Given the description of an element on the screen output the (x, y) to click on. 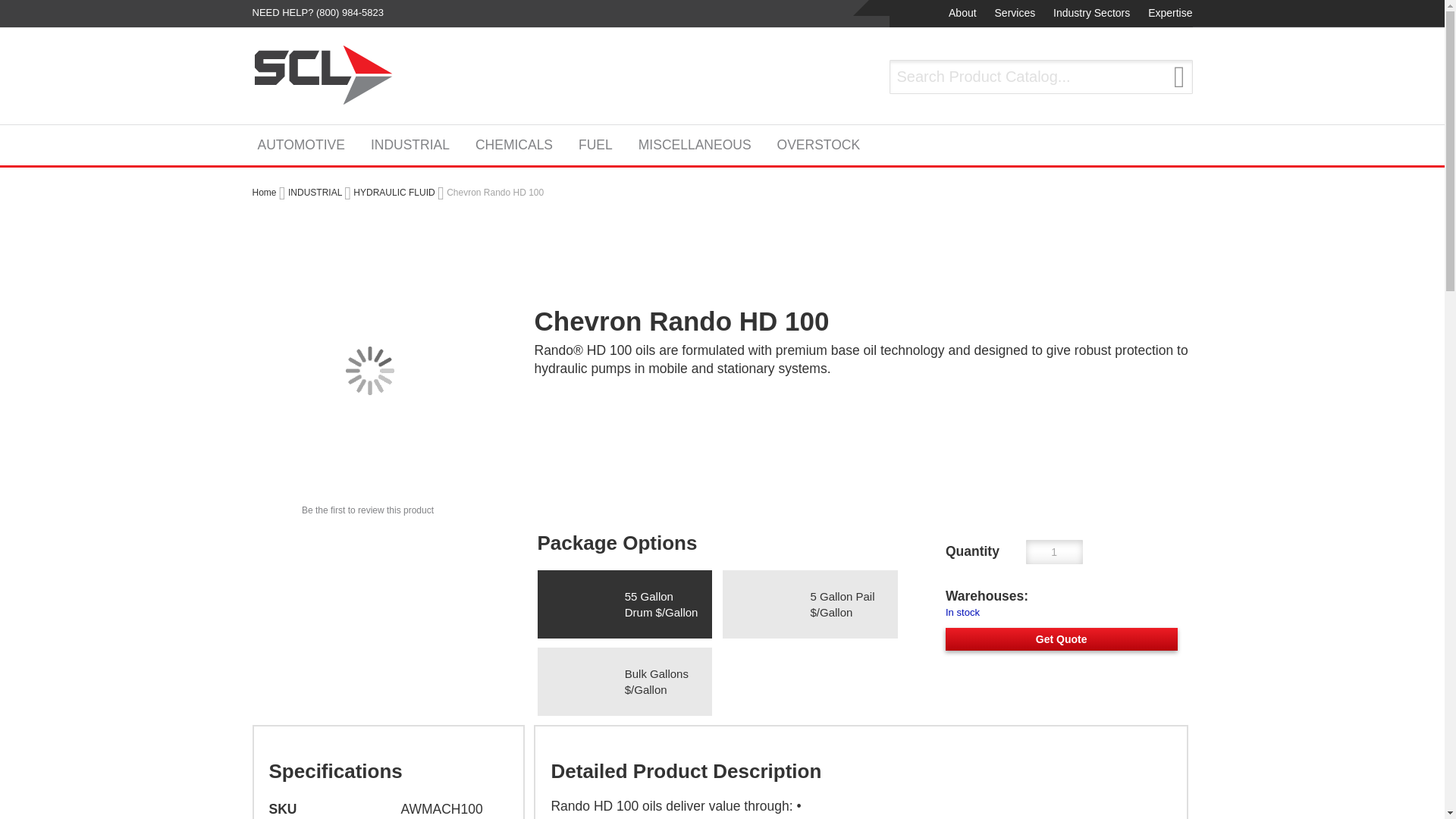
SCL - Lubricants (322, 75)
Services (1013, 13)
AUTOMOTIVE (300, 143)
Industry Sectors (1089, 13)
Go to Home Page (263, 191)
Expertise (1168, 13)
Qty (1054, 551)
1 (1054, 551)
About (960, 13)
Availability: (1060, 612)
